Given the description of an element on the screen output the (x, y) to click on. 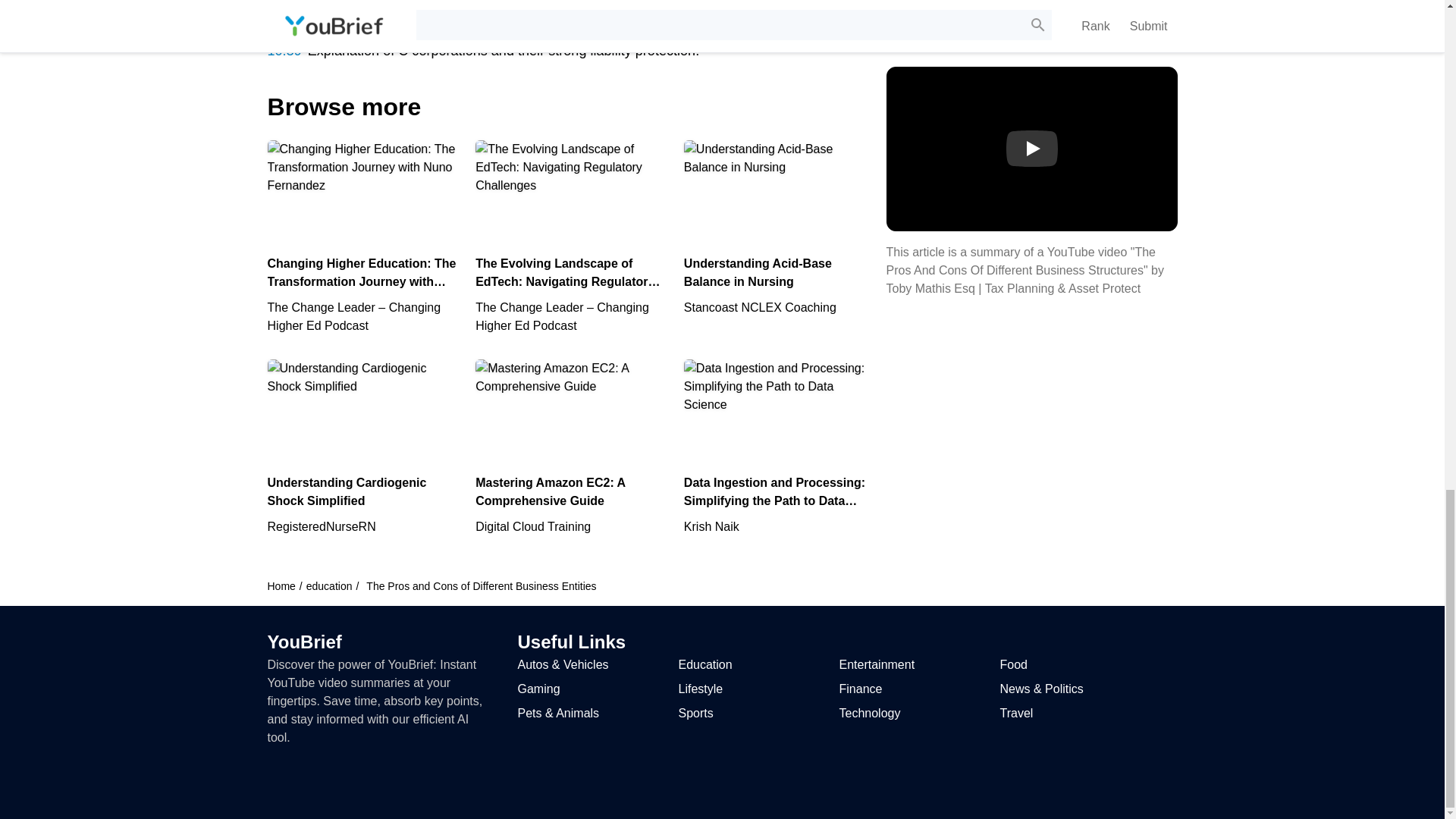
Education (705, 664)
Home (280, 585)
Food (1012, 664)
Lifestyle (362, 447)
Finance (700, 688)
Mastering Amazon EC2: A Comprehensive Guide (860, 688)
Gaming (570, 447)
